Given the description of an element on the screen output the (x, y) to click on. 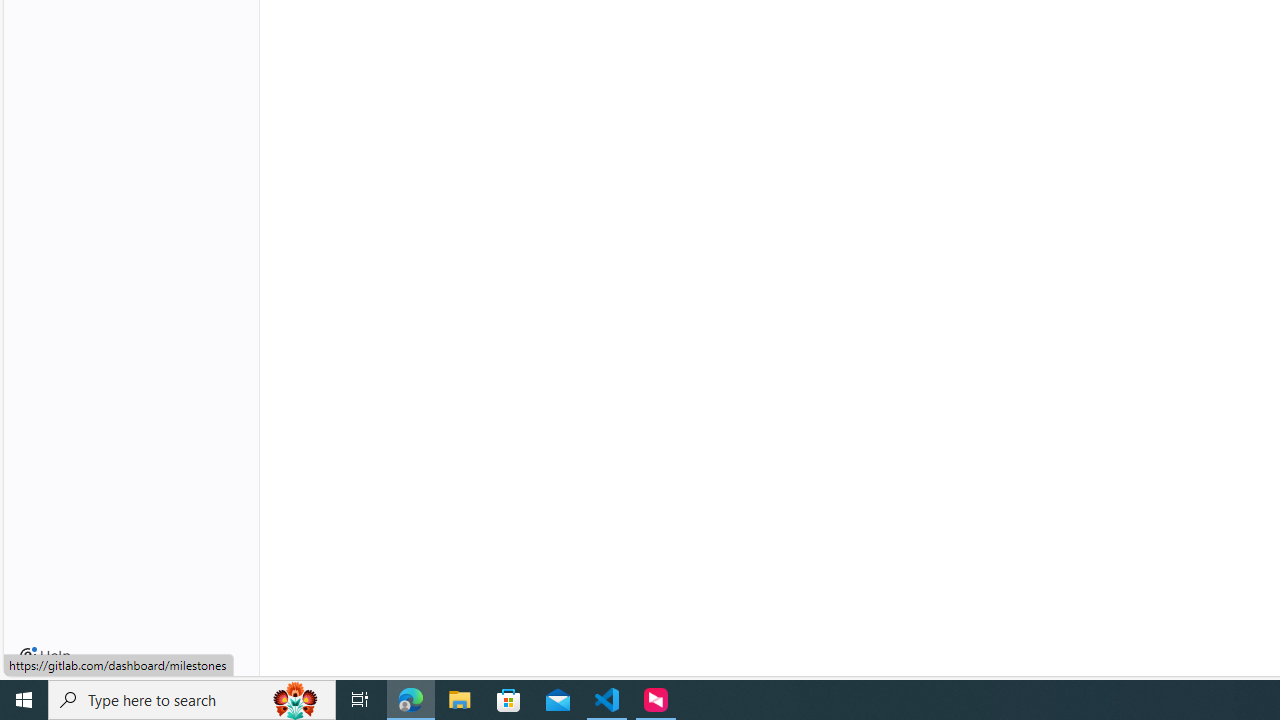
Help (45, 655)
